Given the description of an element on the screen output the (x, y) to click on. 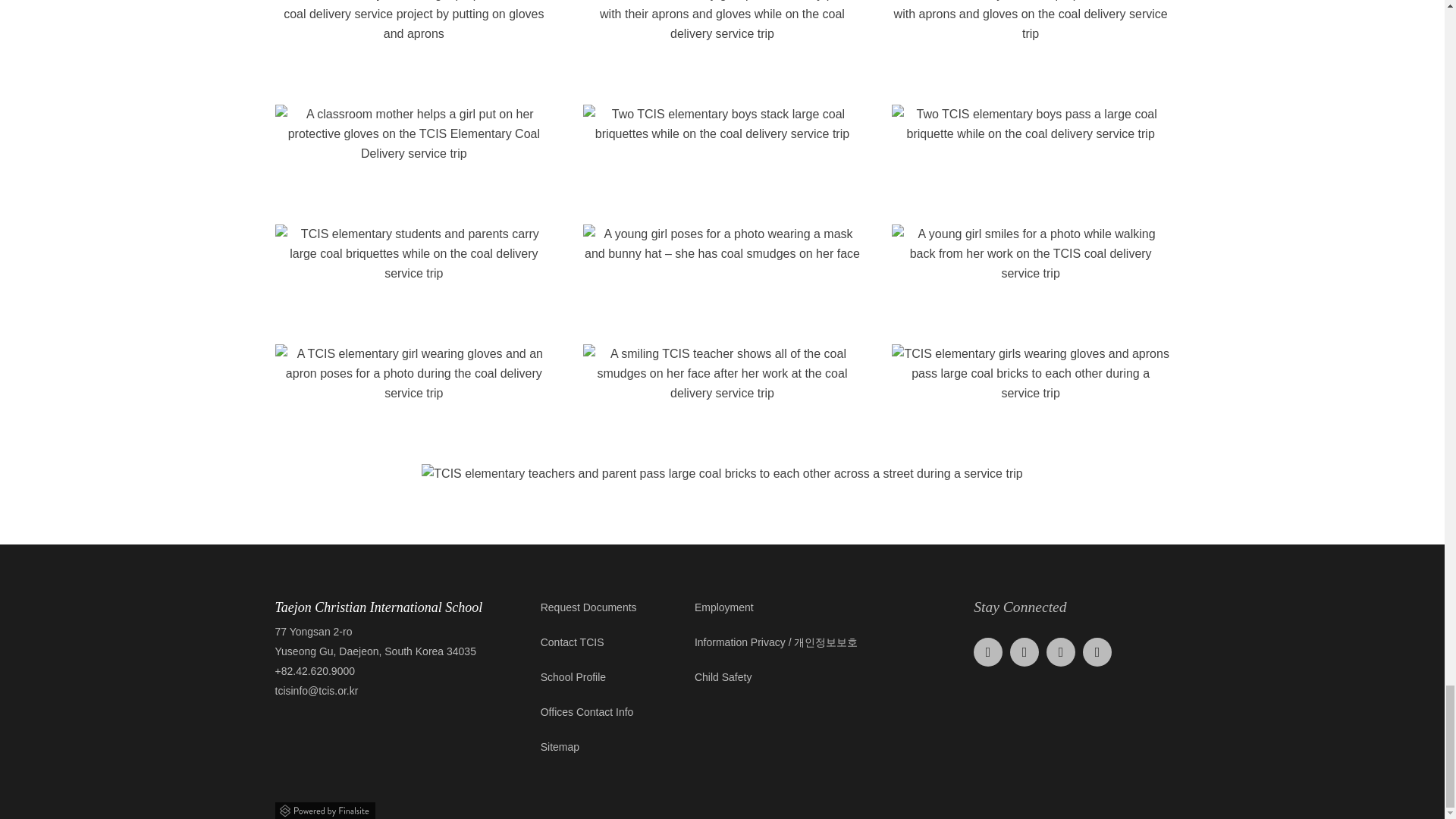
Powered by Finalsite opens in a new window (722, 808)
